Given the description of an element on the screen output the (x, y) to click on. 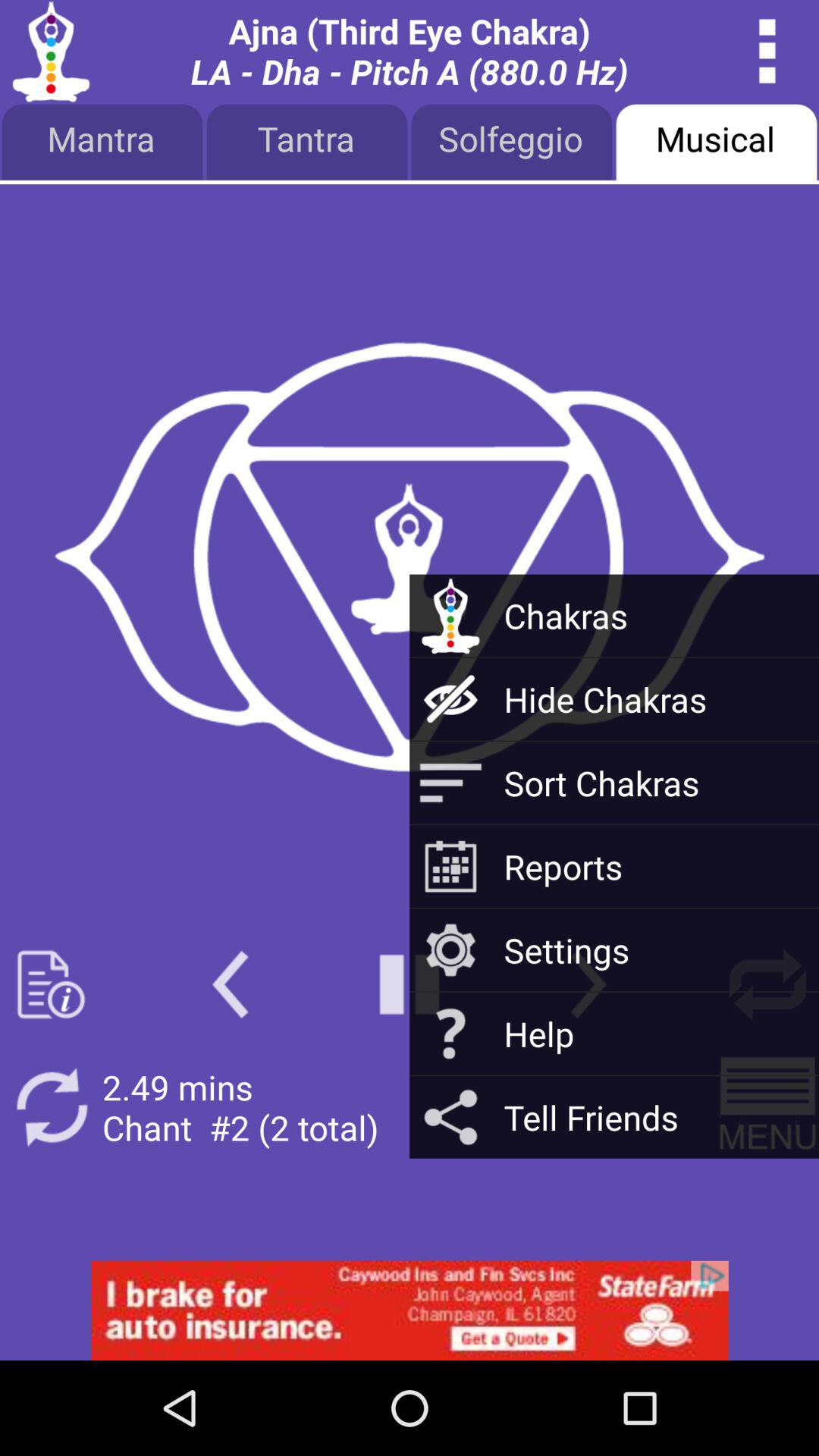
setting button (767, 984)
